Given the description of an element on the screen output the (x, y) to click on. 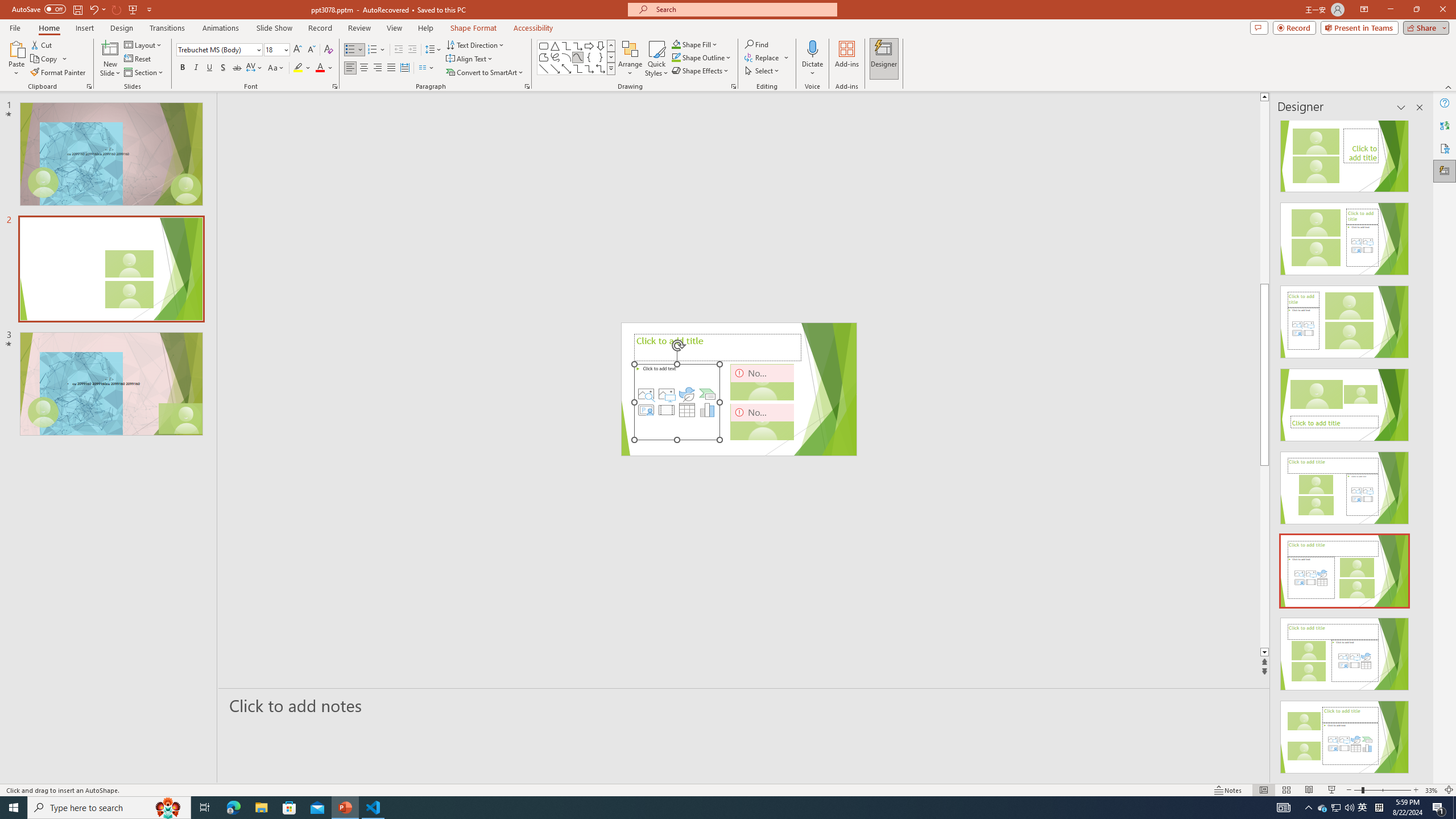
Connector: Elbow Double-Arrow (600, 68)
